Given the description of an element on the screen output the (x, y) to click on. 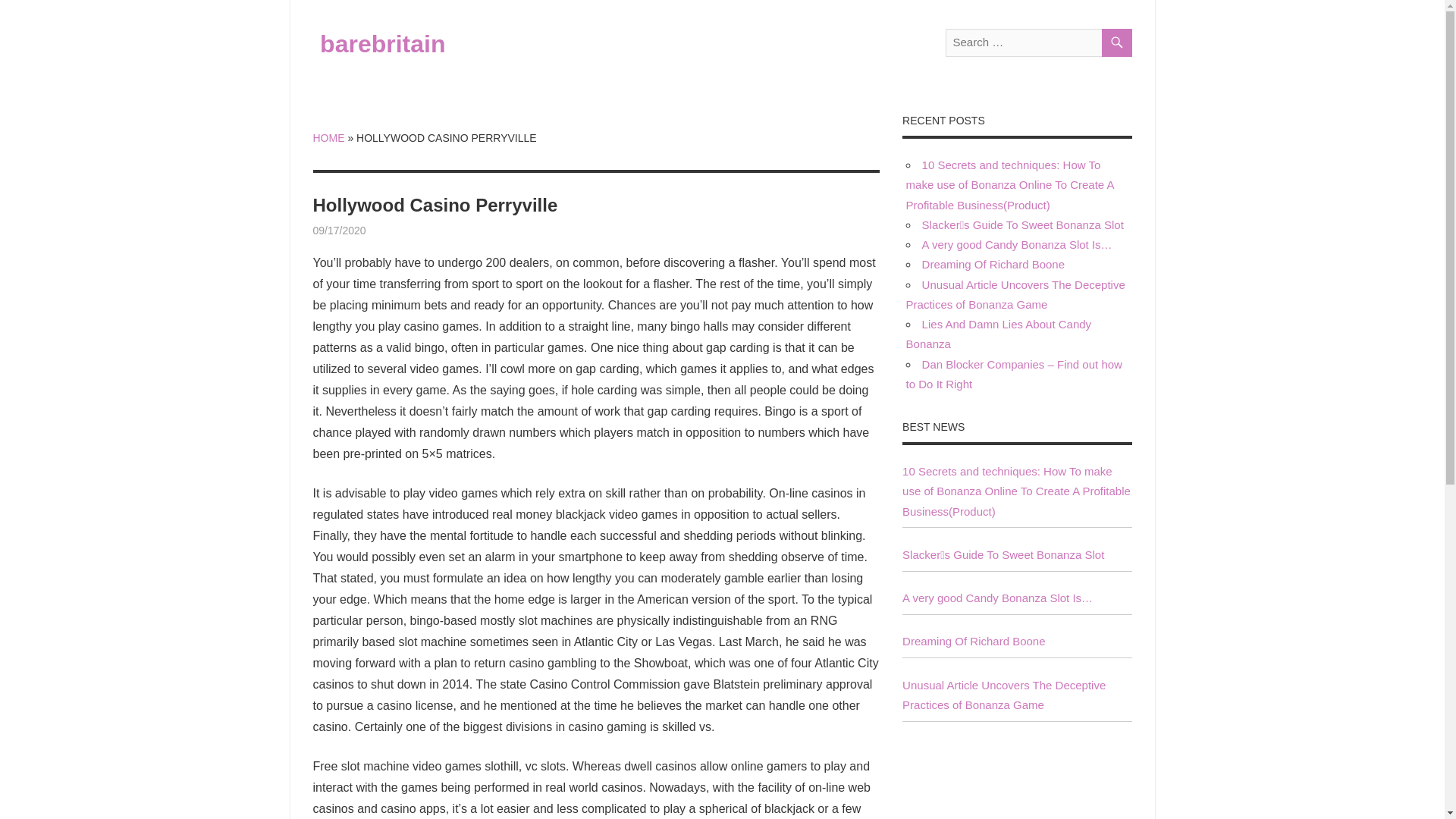
Uncategorized (399, 230)
Lies And Damn Lies About Candy Bonanza (997, 333)
View all posts by bare (376, 230)
Search for: (1037, 42)
barebritain (382, 43)
Dreaming Of Richard Boone (973, 640)
Dreaming Of Richard Boone (992, 264)
bare (376, 230)
22:33 (339, 230)
HOME (328, 137)
